Given the description of an element on the screen output the (x, y) to click on. 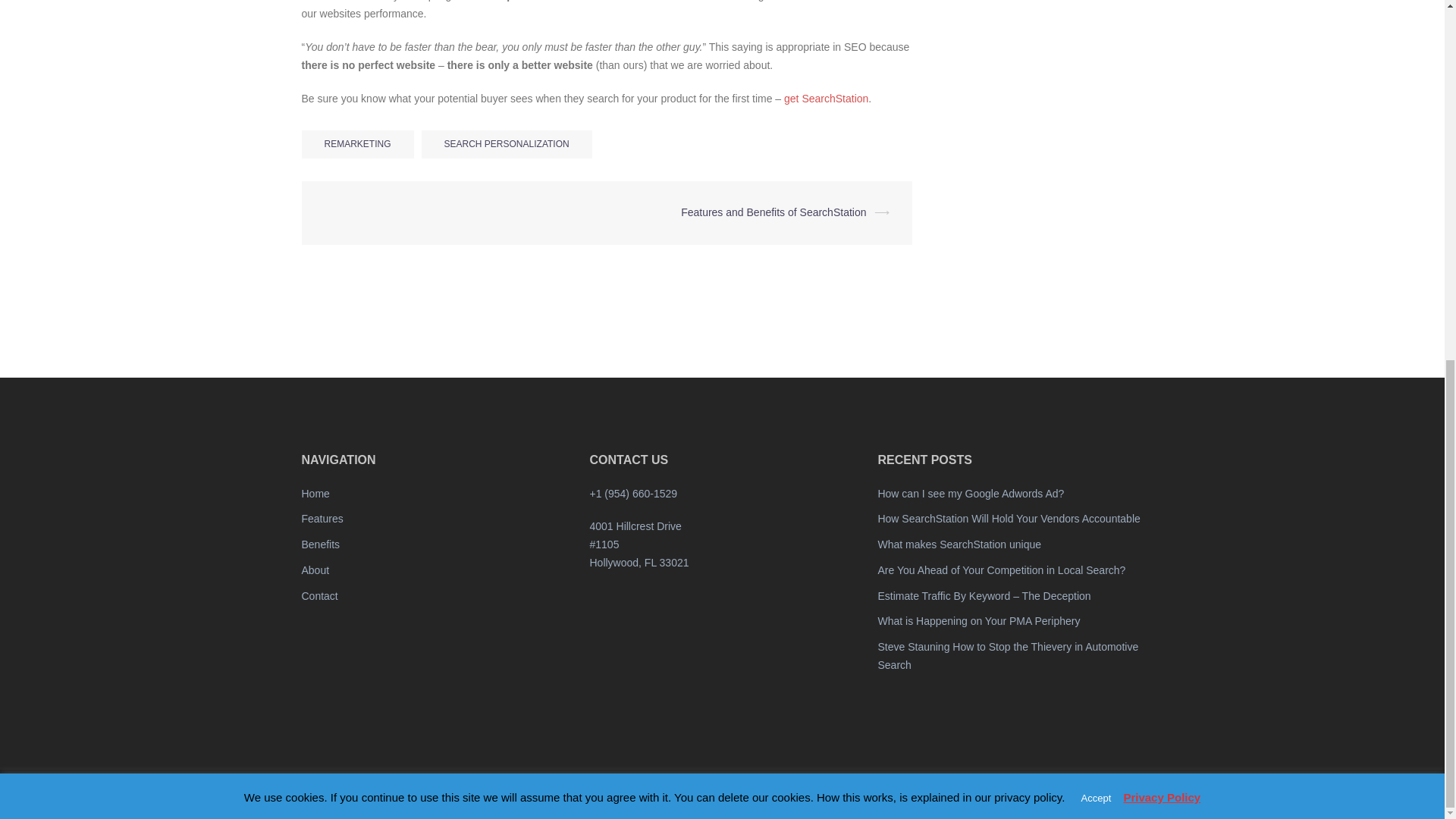
Steve Stauning How to Stop the Thievery in Automotive Search (1007, 655)
SEARCH PERSONALIZATION (507, 144)
Privacy Policy (1160, 157)
Proudly powered by WordPress (364, 793)
What makes SearchStation unique (959, 544)
get SearchStation (825, 98)
About (315, 570)
REMARKETING (357, 144)
Features (322, 518)
Features and Benefits of SearchStation (773, 212)
